Given the description of an element on the screen output the (x, y) to click on. 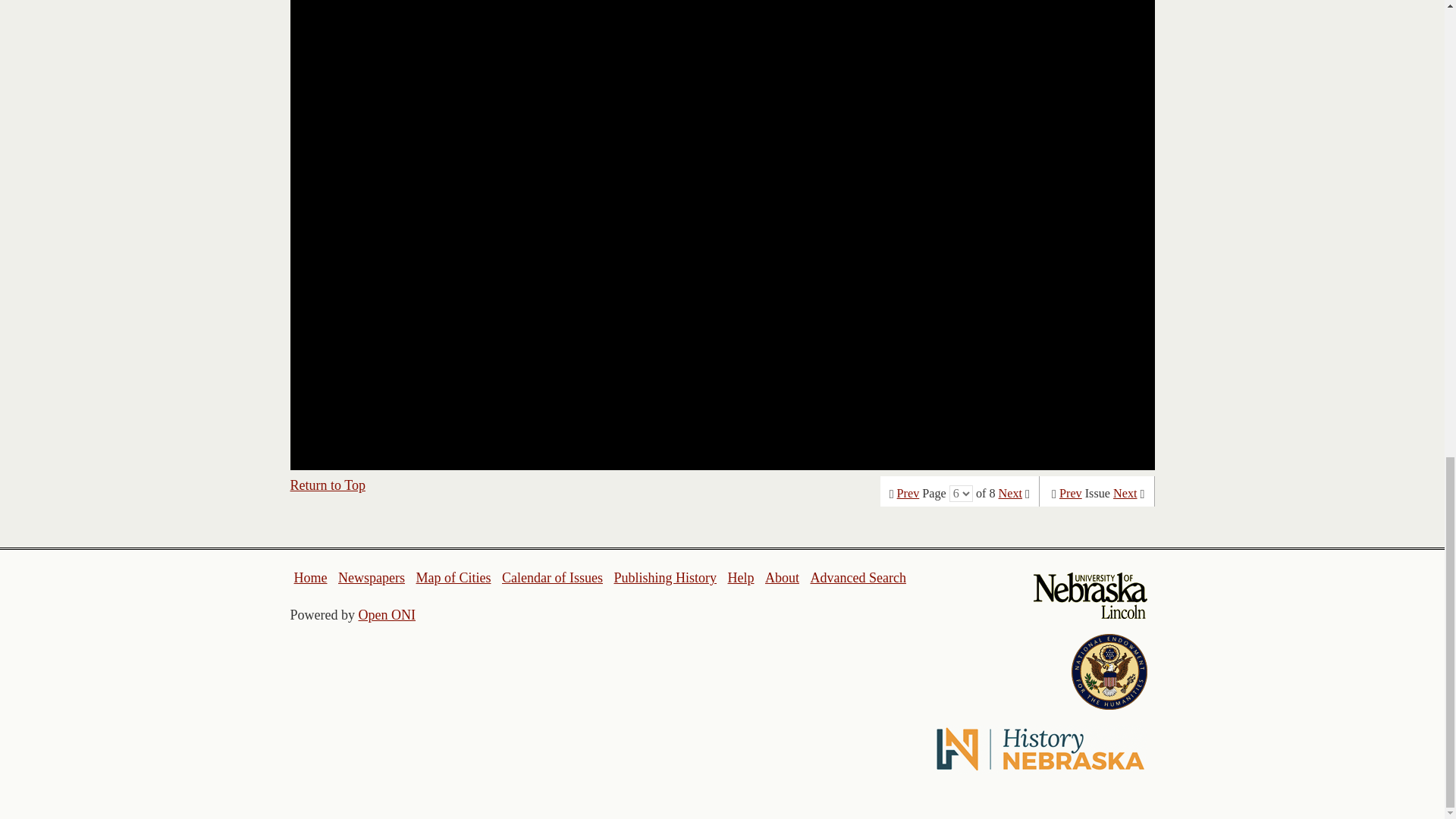
Next (1010, 493)
Advanced Search (857, 577)
Newspapers (370, 577)
Return to Top (327, 485)
Next (1125, 493)
Map of Cities (452, 577)
Prev (1070, 493)
Home (310, 577)
Prev (908, 493)
Open ONI (386, 614)
About (782, 577)
Publishing History (664, 577)
Help (740, 577)
Calendar of Issues (552, 577)
